Given the description of an element on the screen output the (x, y) to click on. 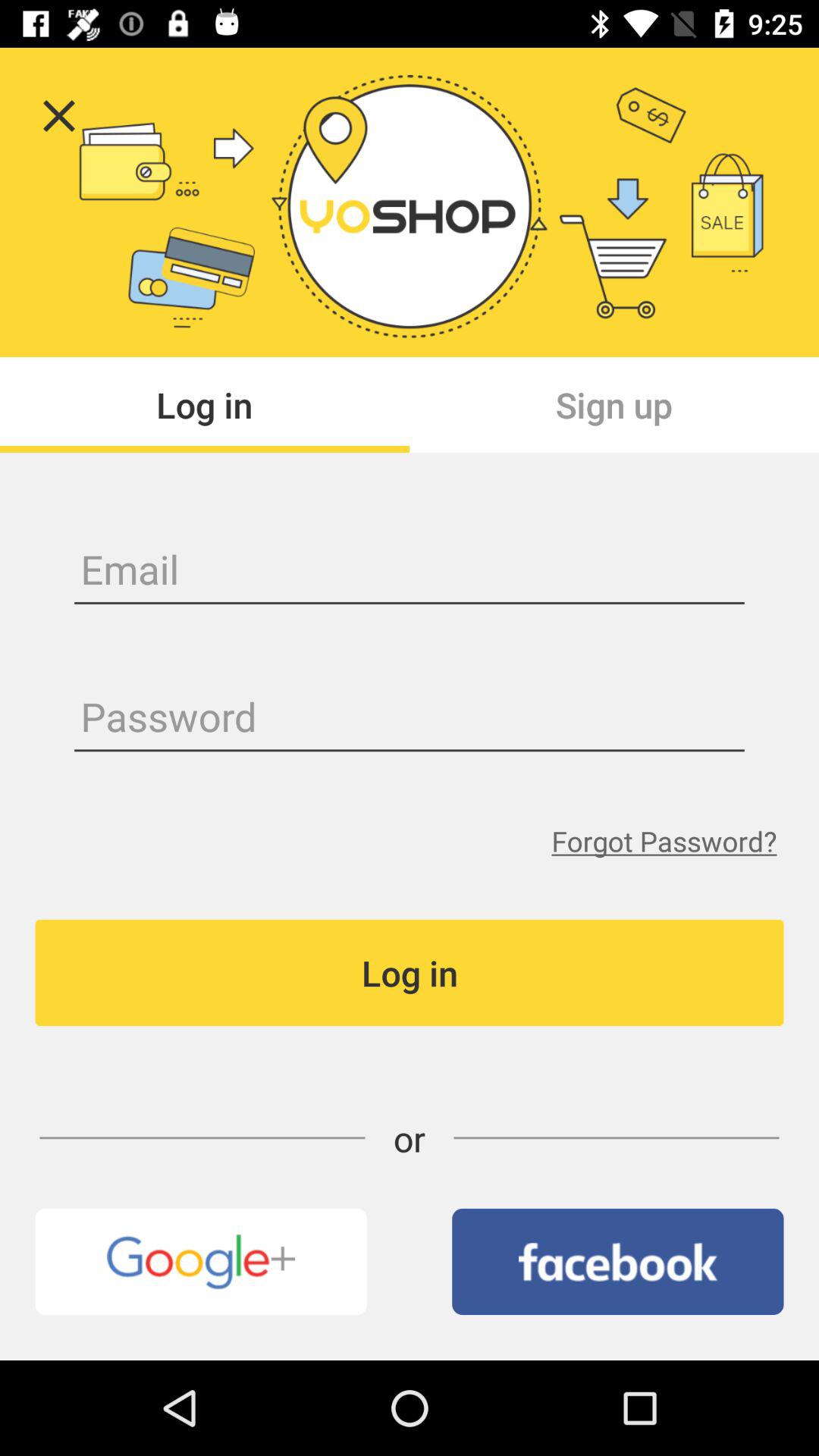
sign in with google (200, 1261)
